Given the description of an element on the screen output the (x, y) to click on. 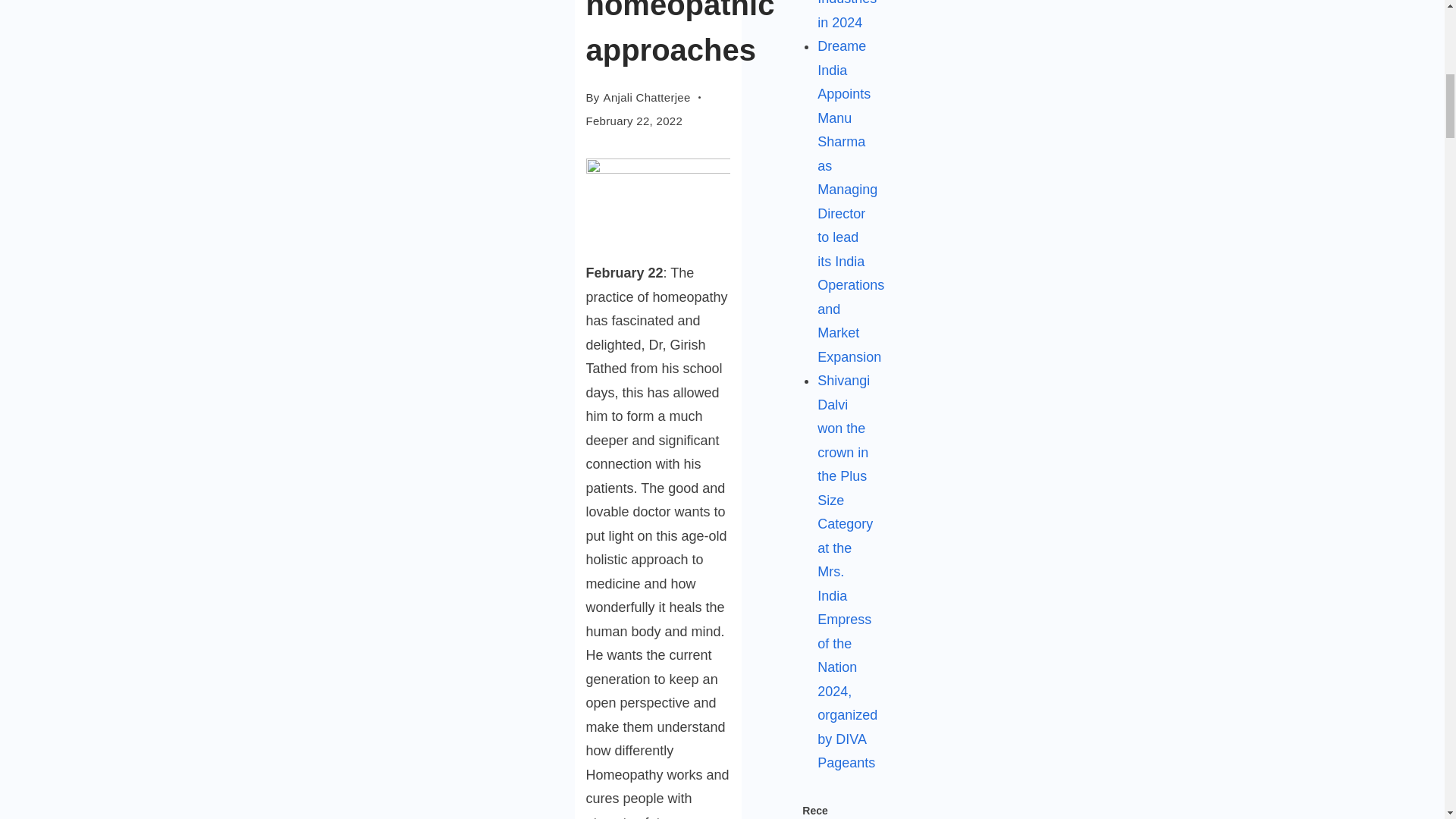
Anjali Chatterjee (647, 97)
